Given the description of an element on the screen output the (x, y) to click on. 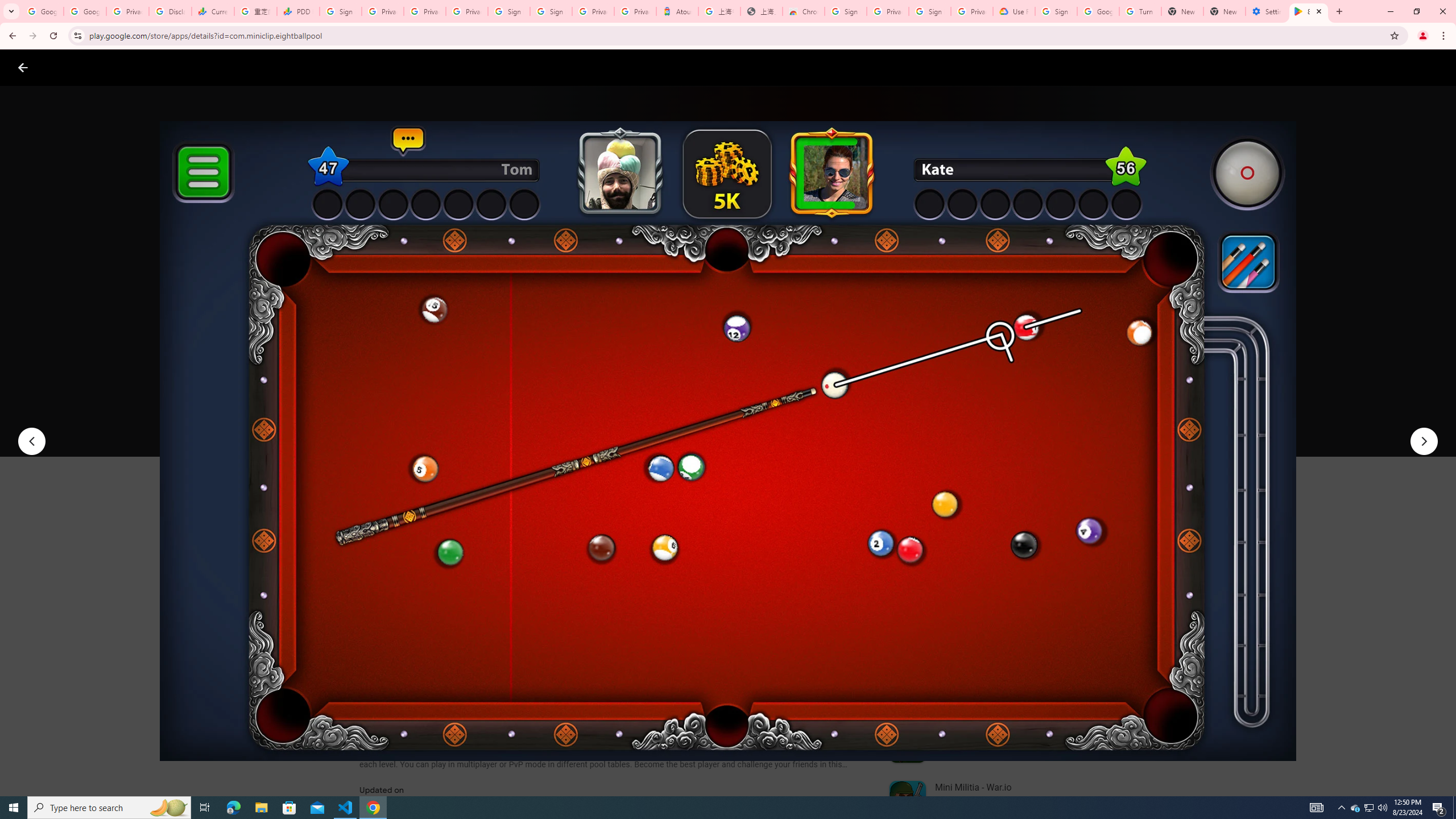
Chrome Web Store - Color themes by Chrome (803, 11)
Turn cookies on or off - Computer - Google Account Help (1139, 11)
Open account menu (1436, 67)
Expand (978, 497)
Settings - System (1266, 11)
Kids (219, 67)
